Given the description of an element on the screen output the (x, y) to click on. 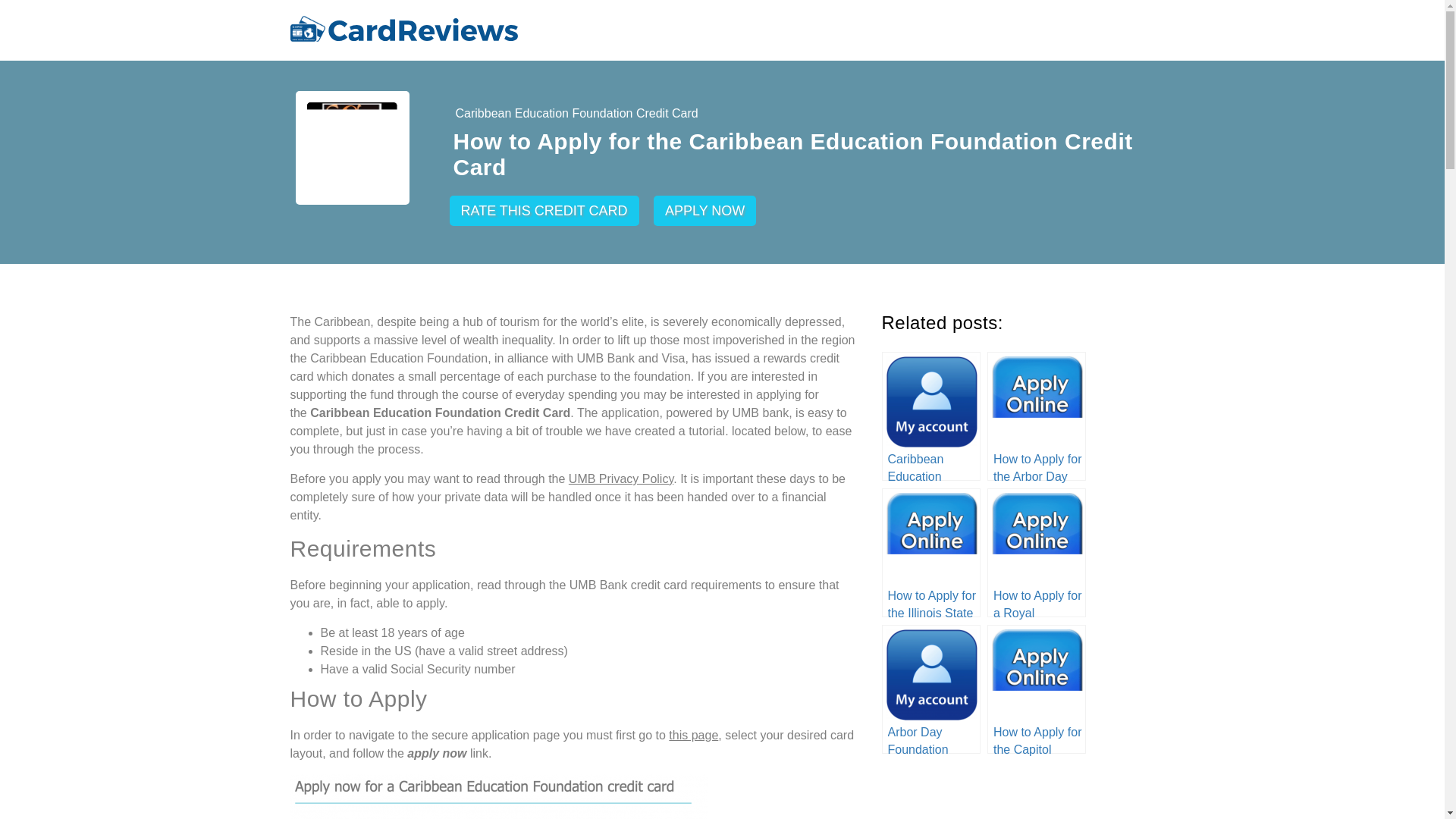
UMB Privacy Policy (620, 478)
this page (692, 735)
APPLY NOW (704, 210)
Caribbean Education Foundation Credit Card (575, 113)
RATE THIS CREDIT CARD (543, 210)
